Given the description of an element on the screen output the (x, y) to click on. 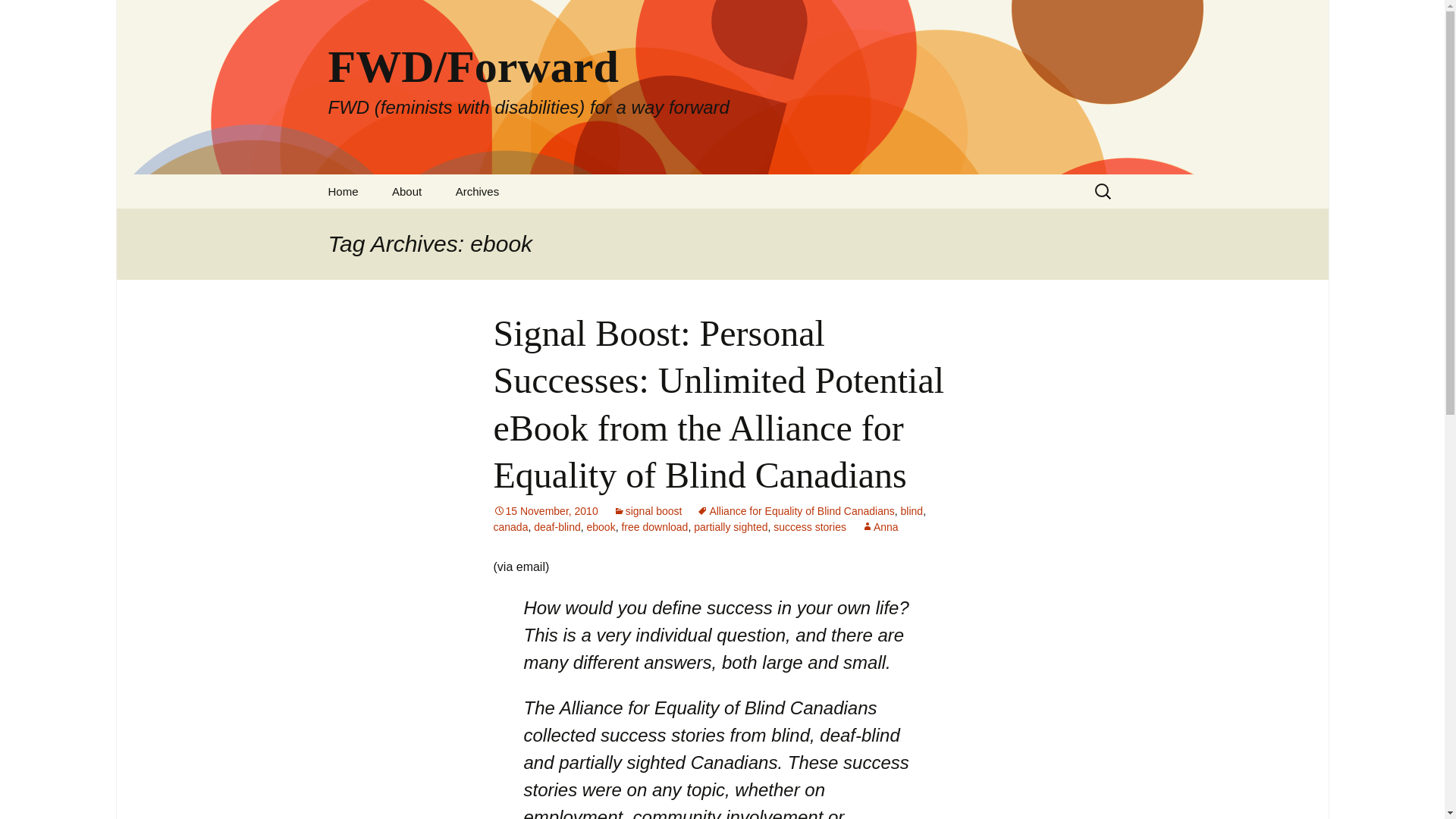
signal boost (647, 510)
Archives (478, 191)
canada (510, 526)
About (406, 191)
ebook (600, 526)
Anna (879, 526)
partially sighted (730, 526)
View all posts by Anna (879, 526)
Search (18, 15)
